Given the description of an element on the screen output the (x, y) to click on. 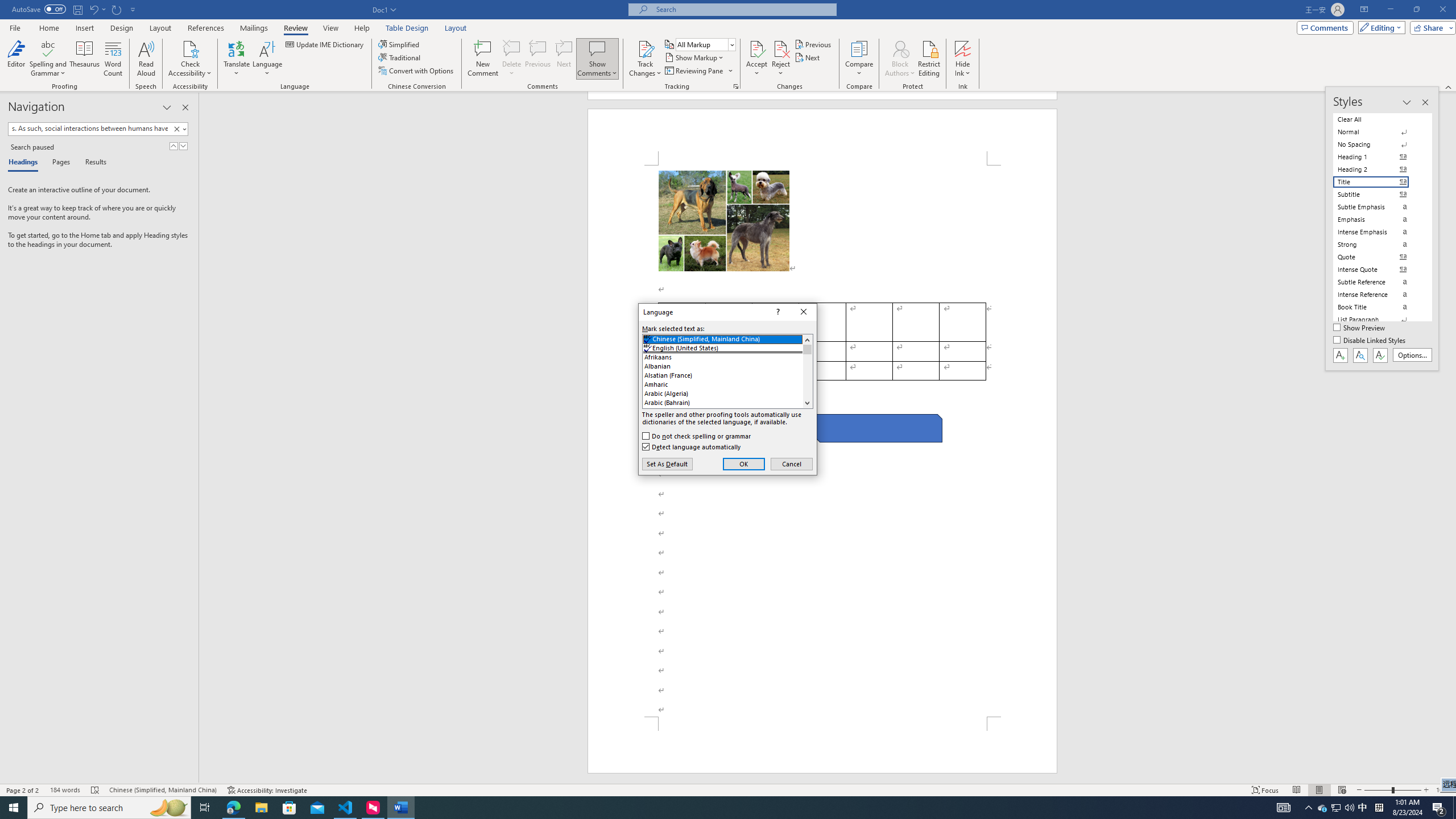
Check Accessibility (189, 58)
Convert with Options... (417, 69)
Display for Review (705, 44)
Language (267, 58)
Show Markup (695, 56)
Delete (511, 58)
Previous Result (173, 145)
Clear (178, 128)
Set As Default (667, 463)
